Given the description of an element on the screen output the (x, y) to click on. 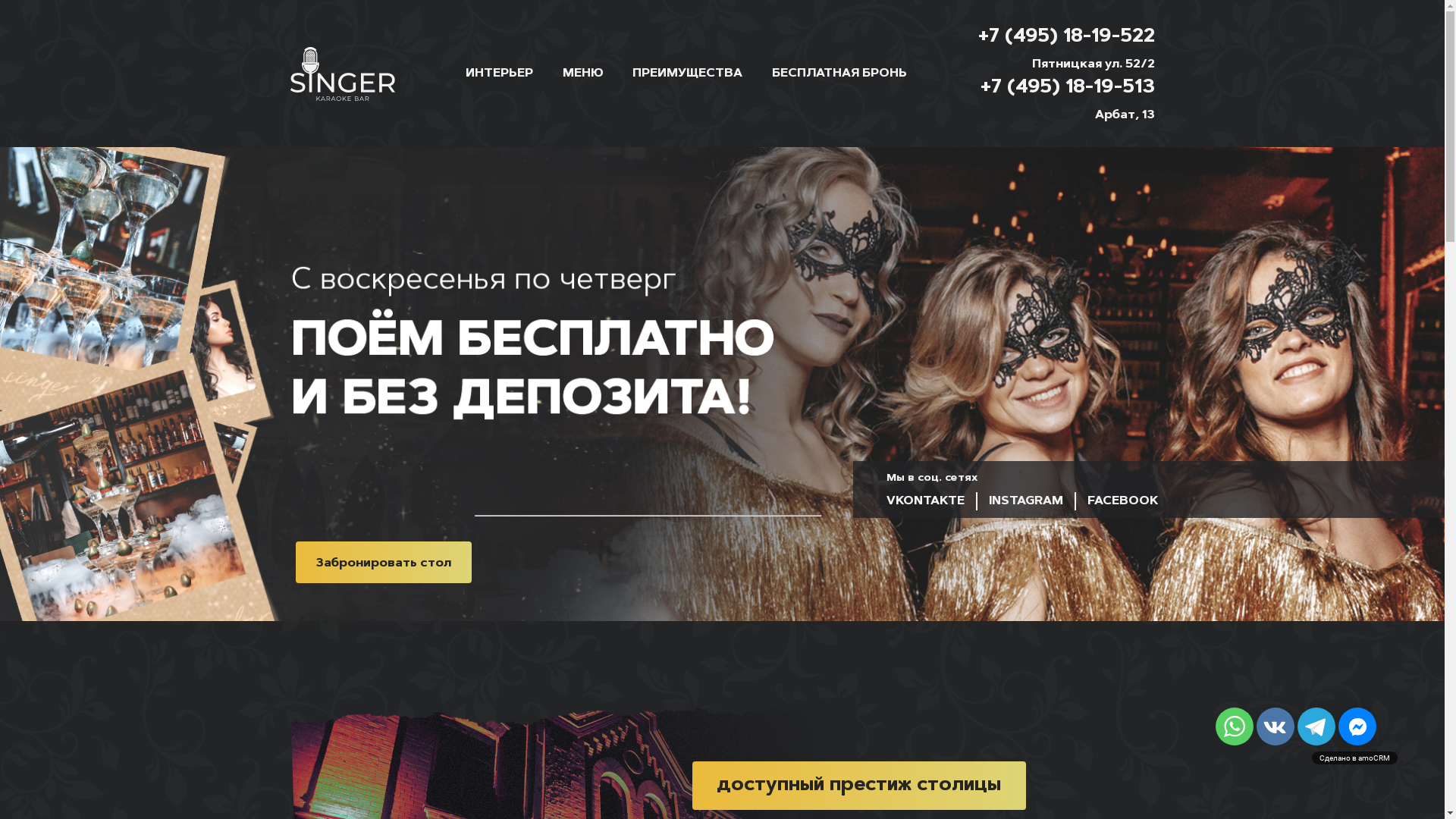
+7 (495) 18-19-522 Element type: text (1066, 38)
INSTAGRAM Element type: text (1026, 501)
VKONTAKTE Element type: text (931, 501)
FACEBOOK Element type: text (1122, 501)
+7 (495) 18-19-513 Element type: text (1066, 89)
